Given the description of an element on the screen output the (x, y) to click on. 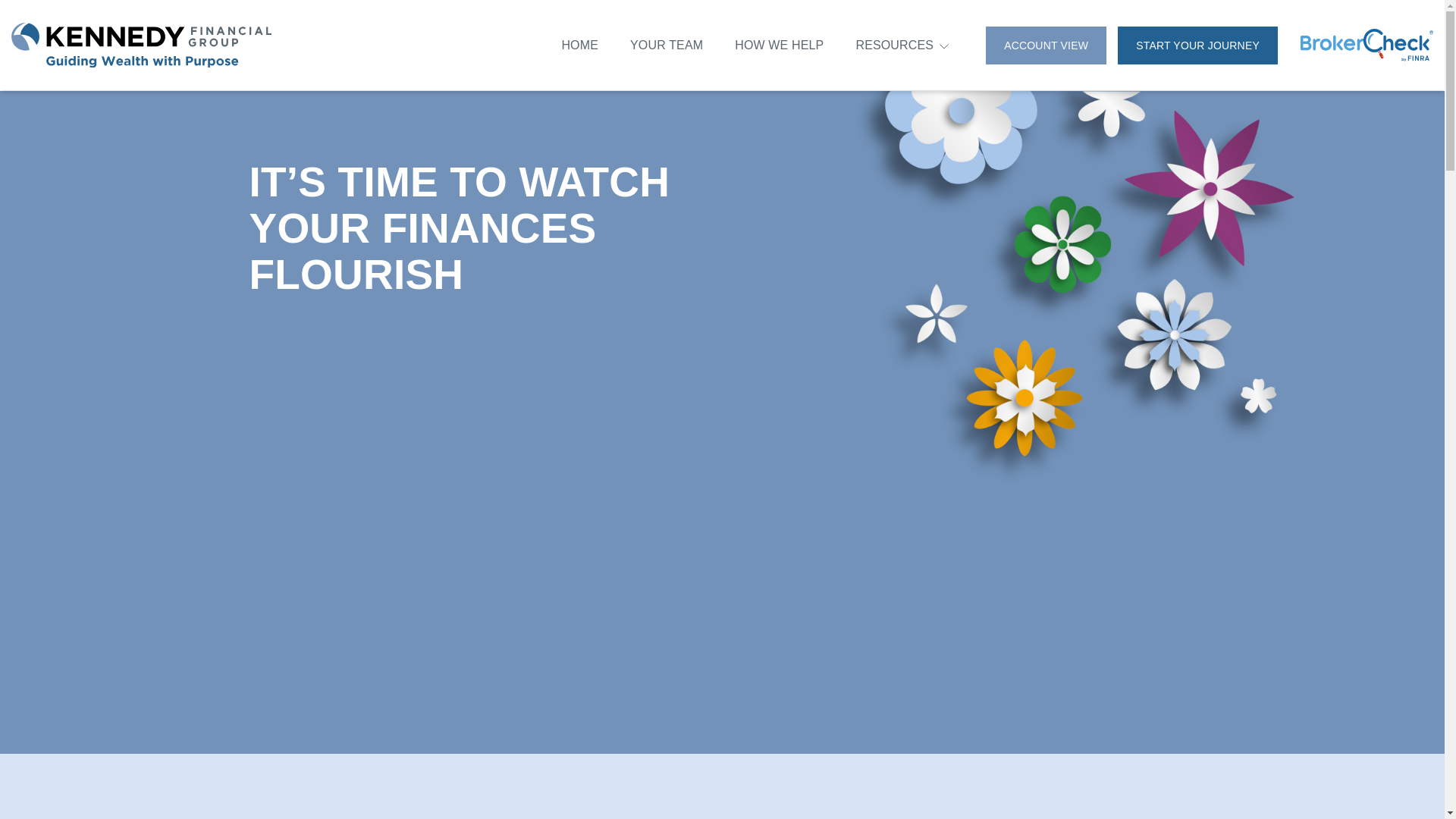
START YOUR JOURNEY (1198, 44)
RESOURCES (894, 45)
YOUR TEAM (666, 43)
HOME (579, 43)
HOW WE HELP (779, 43)
ACCOUNT VIEW (1045, 44)
